Given the description of an element on the screen output the (x, y) to click on. 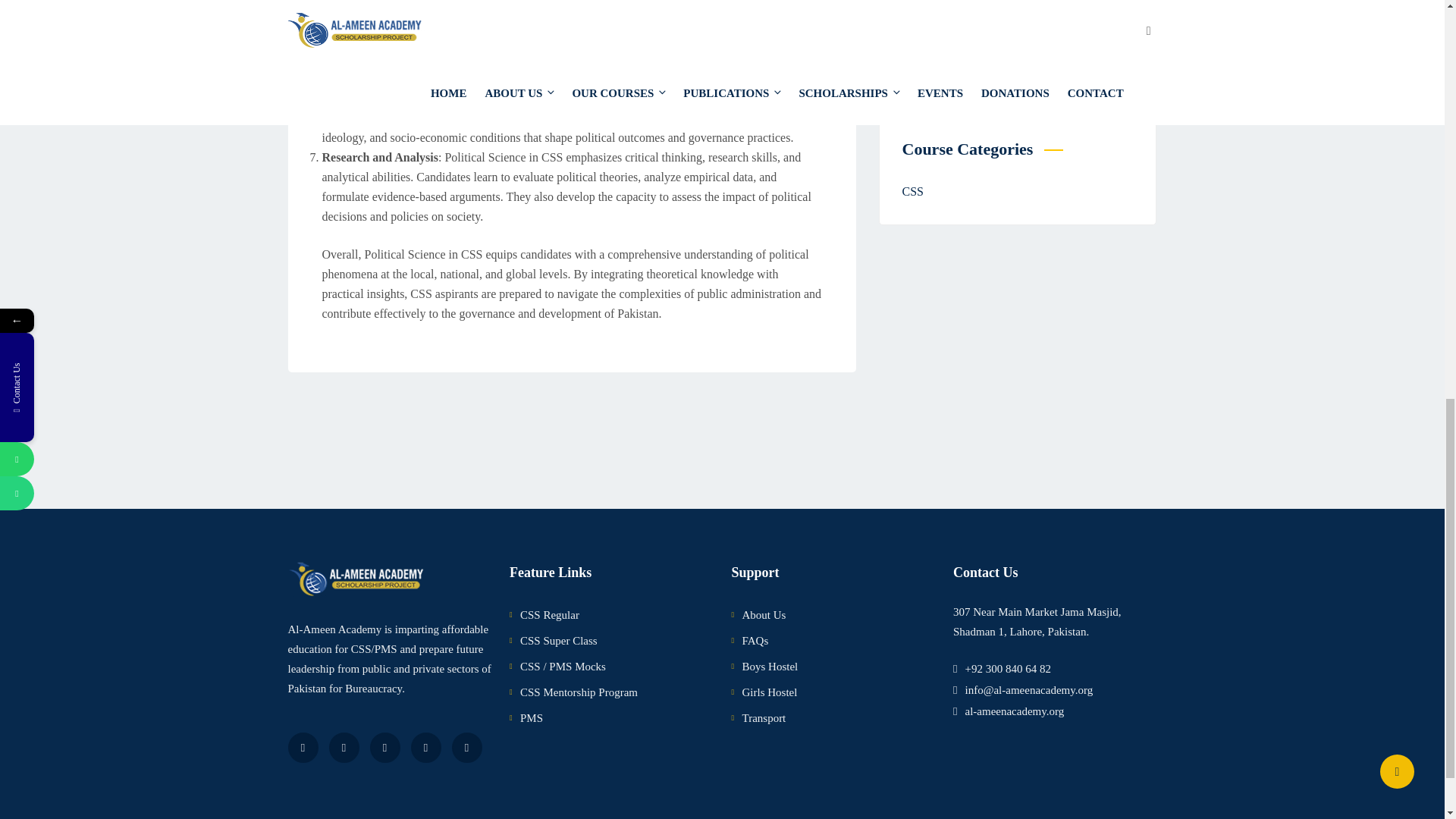
Facebook (303, 747)
Twitter (344, 747)
Instagram (425, 747)
Linkedin (466, 747)
Youtube (384, 747)
